Given the description of an element on the screen output the (x, y) to click on. 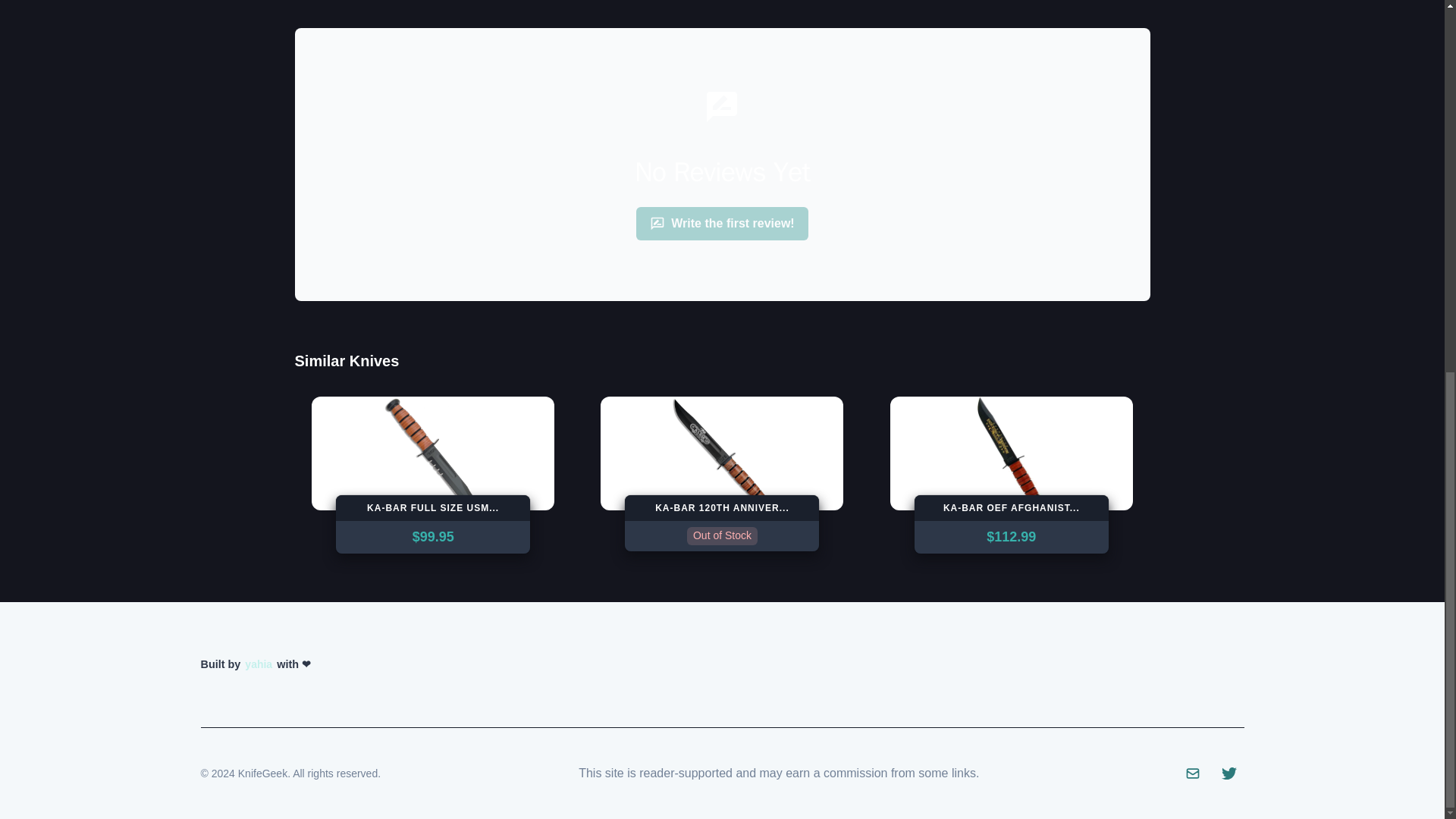
yahia (258, 664)
Write the first review! (722, 223)
